Given the description of an element on the screen output the (x, y) to click on. 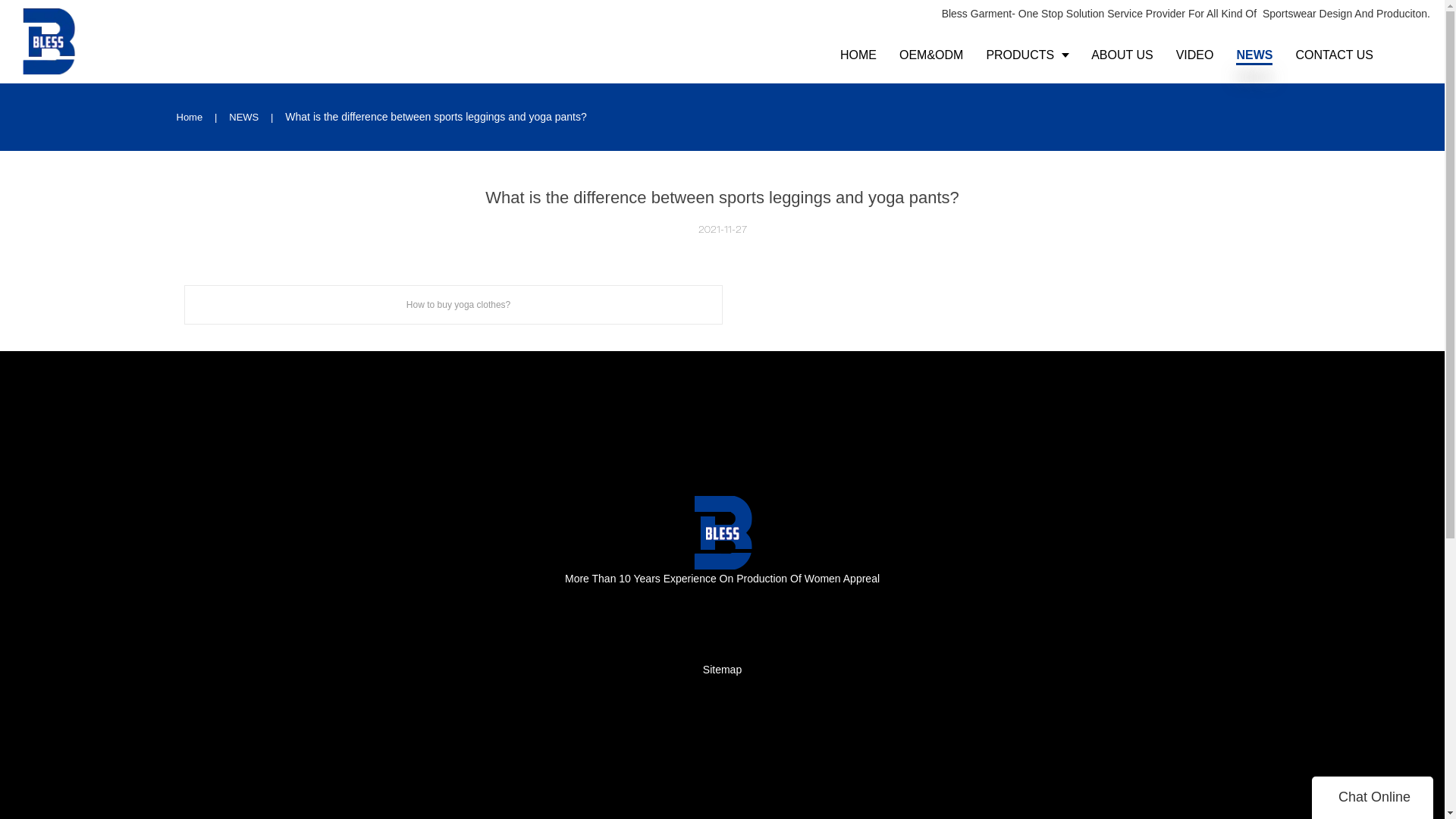
Sitemap Element type: text (721, 669)
Sport Shorts Element type: text (517, 294)
Yoga Legging & Pants Element type: text (540, 231)
About Us Element type: text (232, 294)
CONTACT US Element type: text (1333, 55)
News Element type: text (223, 316)
VIDEO Element type: text (1194, 55)
OEM&ODM Element type: text (238, 252)
T-shirt & Tank Top Element type: text (530, 337)
NEWS Element type: text (245, 116)
Sport Jumpsuit Element type: text (523, 273)
NEWS Element type: text (1253, 55)
ABOUT US Element type: text (1121, 55)
Contact us Element type: text (235, 337)
Yoga & Sports Sets Element type: text (534, 316)
Home Element type: text (188, 116)
Products Element type: text (230, 273)
OEM&ODM Element type: text (931, 55)
PRODUCTS Element type: text (1026, 55)
HOME Element type: text (858, 55)
Sports Bra & Yoga Top Element type: text (541, 252)
How to buy yoga clothes? Element type: text (452, 304)
